Given the description of an element on the screen output the (x, y) to click on. 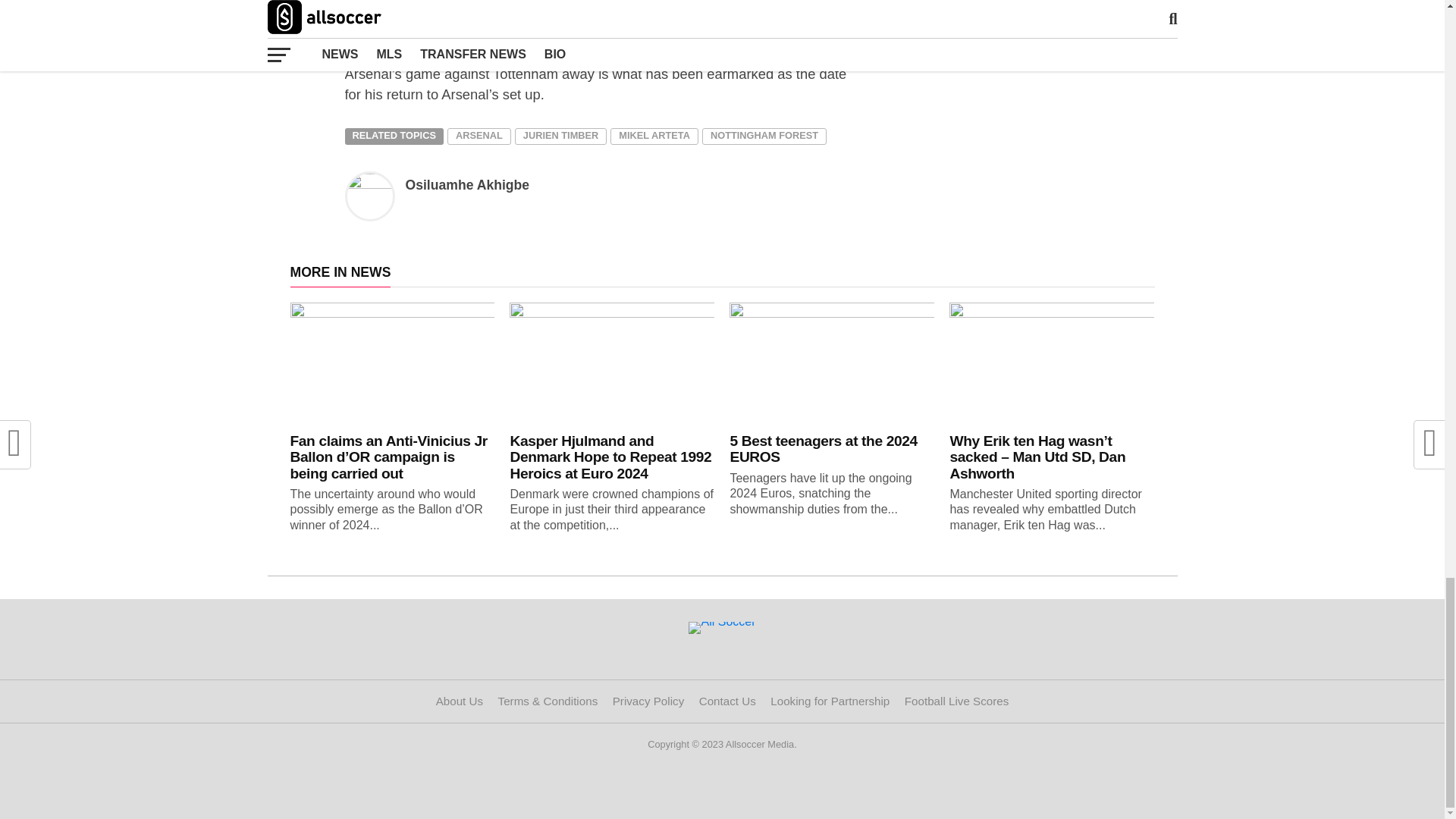
NOTTINGHAM FOREST (764, 135)
Osiluamhe Akhigbe (466, 184)
ARSENAL (478, 135)
Posts by Osiluamhe Akhigbe (466, 184)
JURIEN TIMBER (561, 135)
MIKEL ARTETA (654, 135)
